Given the description of an element on the screen output the (x, y) to click on. 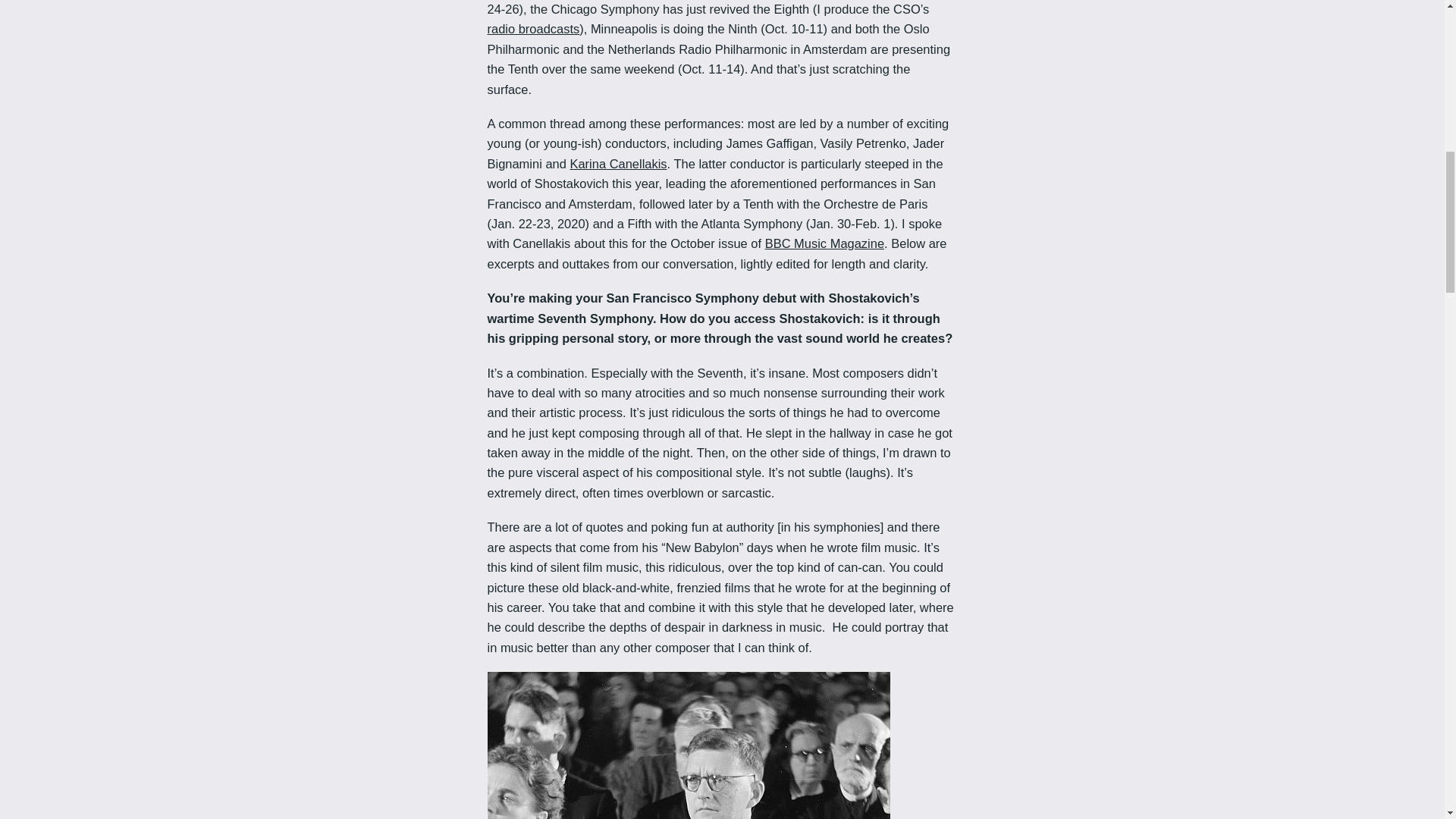
radio broadcasts (532, 29)
Karina Canellakis (617, 163)
BBC Music Magazine (824, 243)
